Given the description of an element on the screen output the (x, y) to click on. 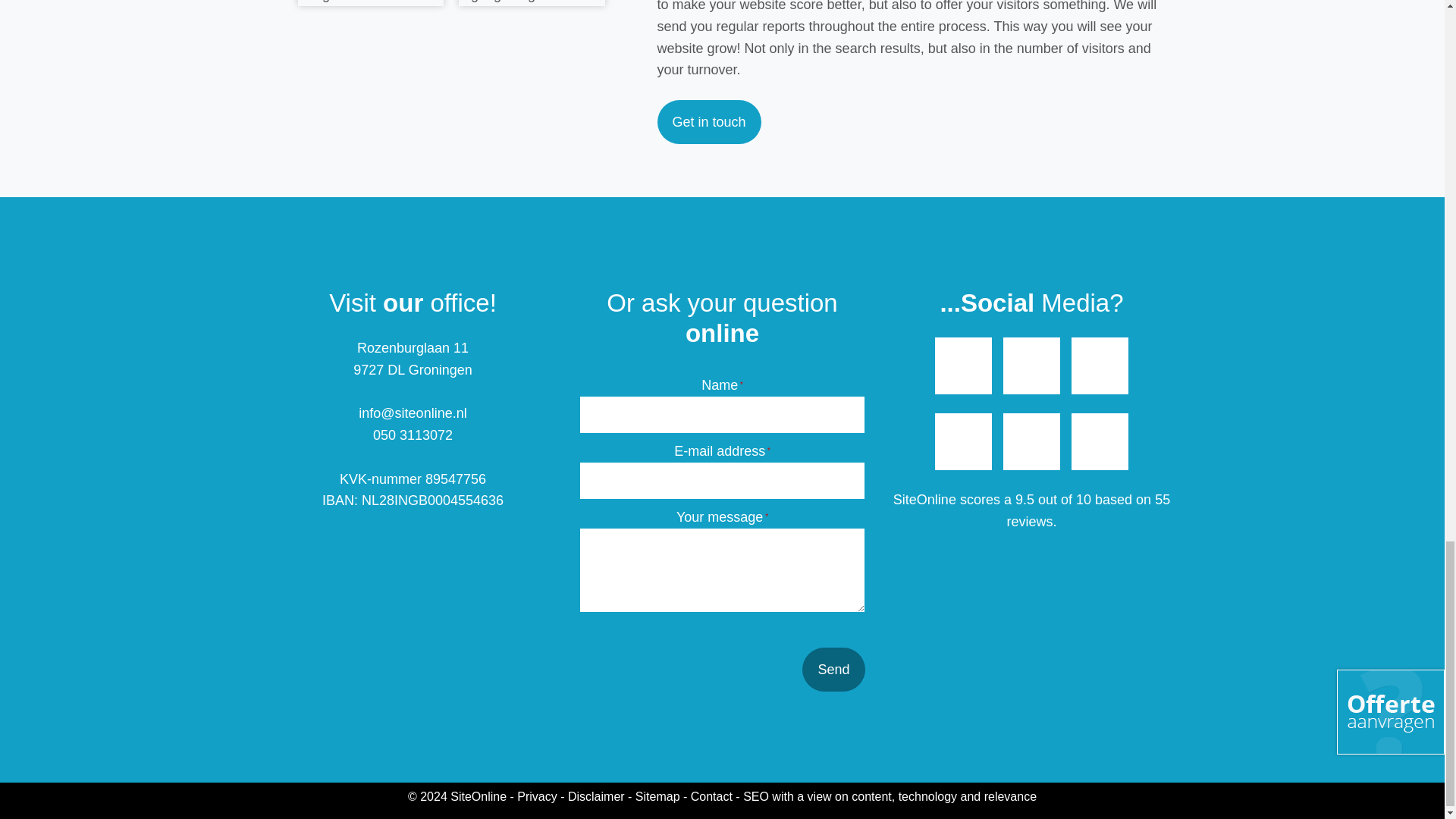
Send (833, 669)
Sitemap (656, 796)
Follow us on Facebook (962, 365)
050 3113072 (412, 435)
Disclaimer (595, 796)
reviews (1029, 521)
Privacy (536, 796)
Send (833, 669)
Follow us on Facebook (962, 441)
Follow us on Twitter (1099, 365)
